Given the description of an element on the screen output the (x, y) to click on. 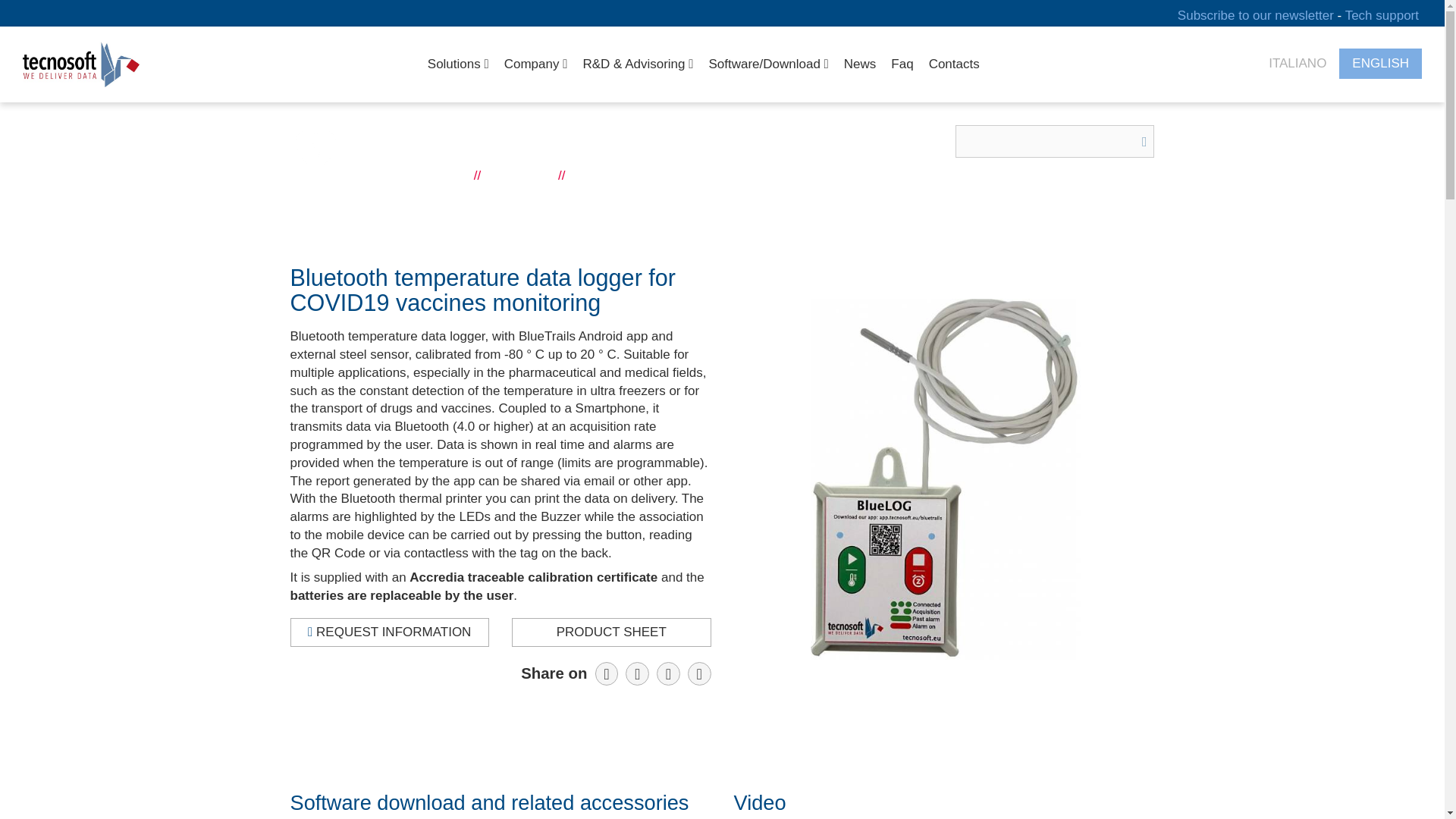
Twitter (667, 673)
Solutions (458, 63)
Italiano (1297, 64)
Tech support (1381, 14)
Tech support (1381, 14)
Email (699, 673)
Facebook (606, 673)
Linkedin (637, 673)
English (1380, 64)
Subscribe to our newsletter (1257, 14)
